Given the description of an element on the screen output the (x, y) to click on. 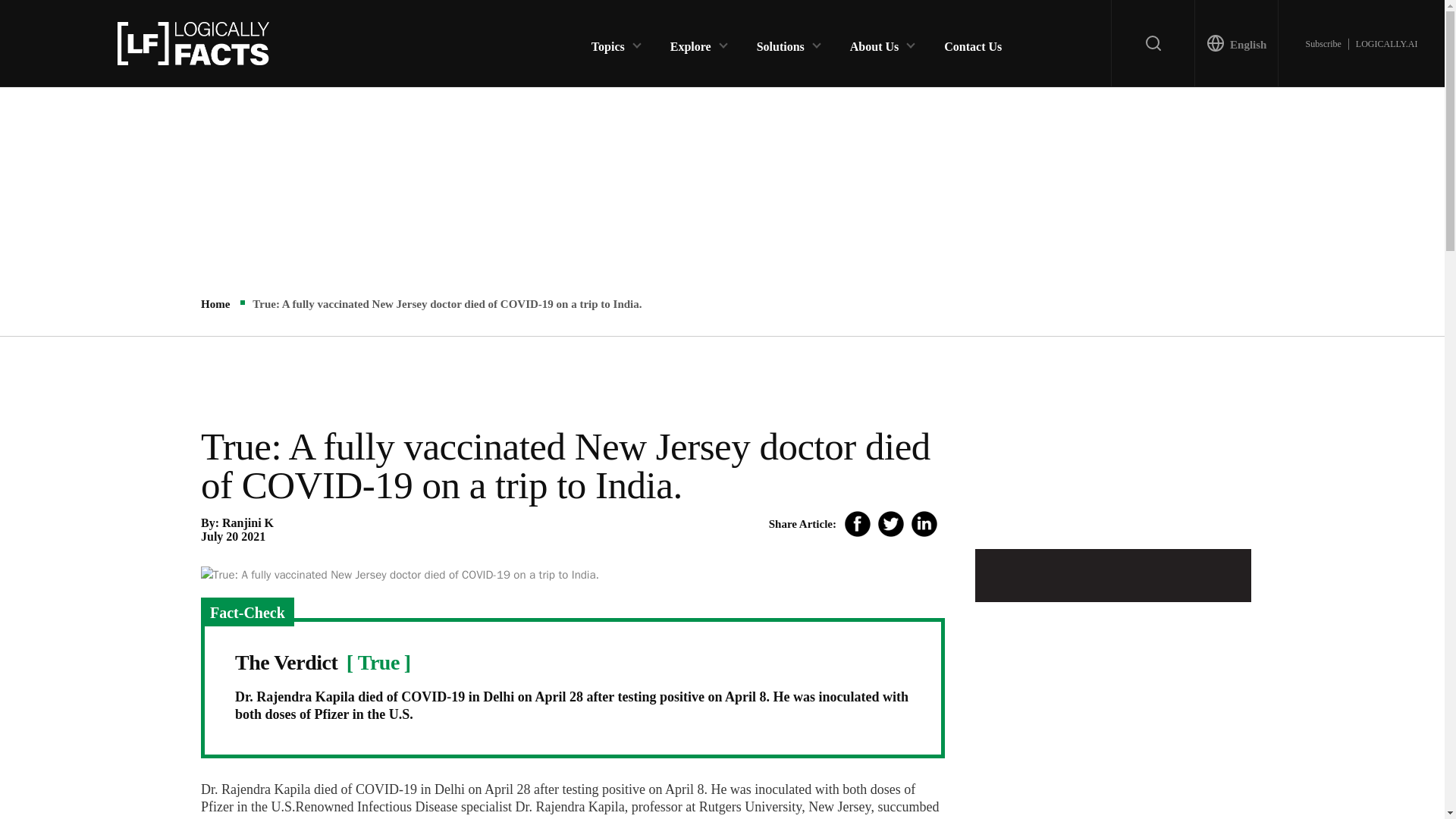
About Us (874, 43)
Explore (690, 43)
LOGICALLY.AI (1386, 43)
Topics (607, 43)
Solutions (781, 43)
Subscribe (1323, 43)
Home (215, 304)
Contact Us (972, 43)
